Given the description of an element on the screen output the (x, y) to click on. 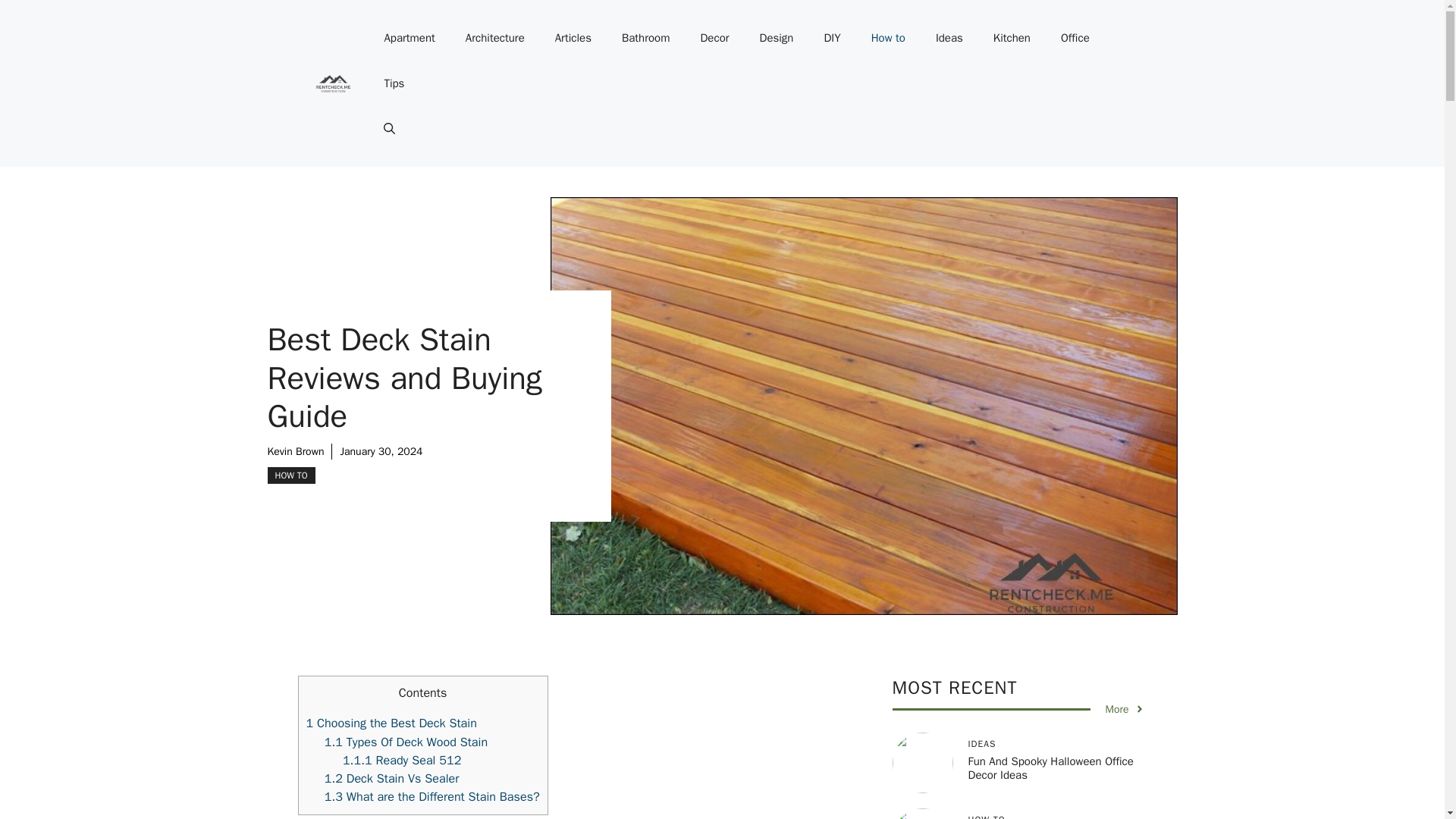
Decor (714, 37)
Apartment (408, 37)
HOW TO (290, 475)
Kitchen (1011, 37)
Office (1075, 37)
How to (888, 37)
1.1.1 Ready Seal 512 (401, 760)
1.1 Types Of Deck Wood Stain (405, 741)
Articles (573, 37)
1 Choosing the Best Deck Stain (391, 722)
DIY (832, 37)
Bathroom (646, 37)
Architecture (494, 37)
1.3 What are the Different Stain Bases? (432, 796)
Ideas (949, 37)
